Given the description of an element on the screen output the (x, y) to click on. 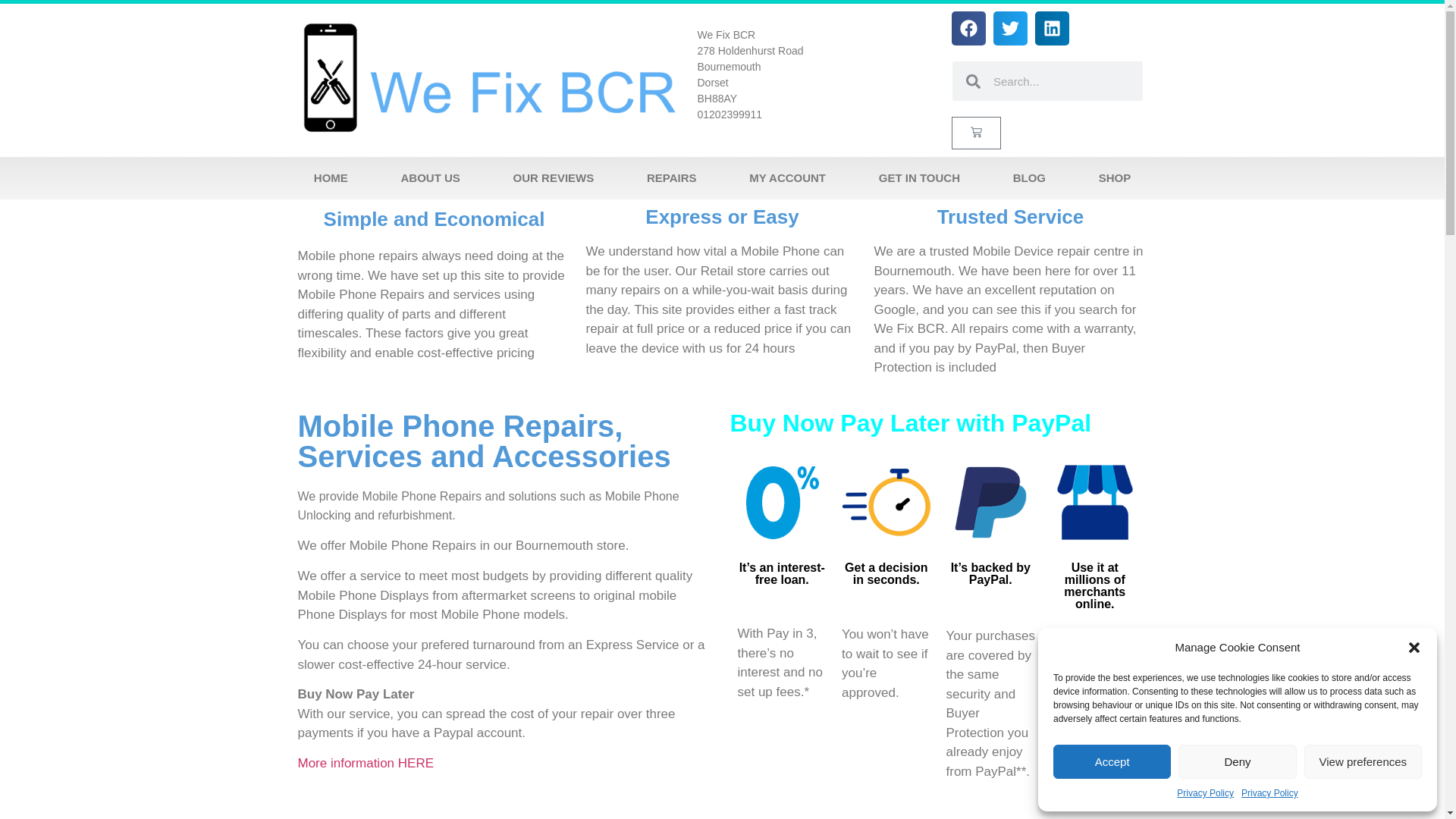
About Us (430, 178)
View preferences (1363, 761)
ABOUT US (430, 178)
REPAIRS (671, 178)
MY ACCOUNT (787, 178)
SHOP (1114, 178)
Privacy Policy (1204, 793)
GET IN TOUCH (919, 178)
OUR REVIEWS (553, 178)
Home Page (330, 178)
HOME (330, 178)
Privacy Policy (1269, 793)
Deny (1236, 761)
Accept (1111, 761)
Items and services that we repair (671, 178)
